Given the description of an element on the screen output the (x, y) to click on. 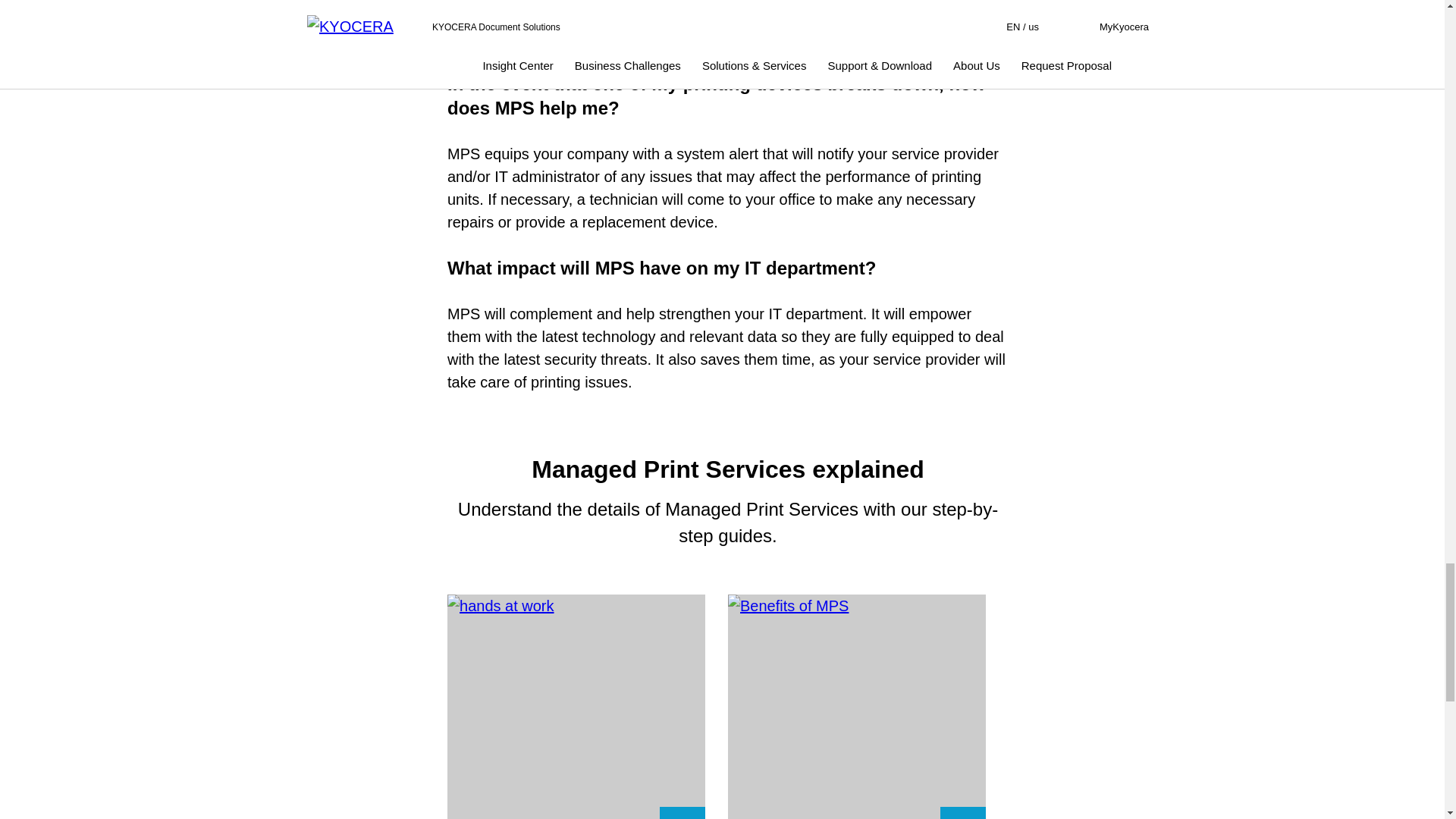
Want to learn more about MPS? (575, 706)
Benefits of MPS (856, 706)
